Given the description of an element on the screen output the (x, y) to click on. 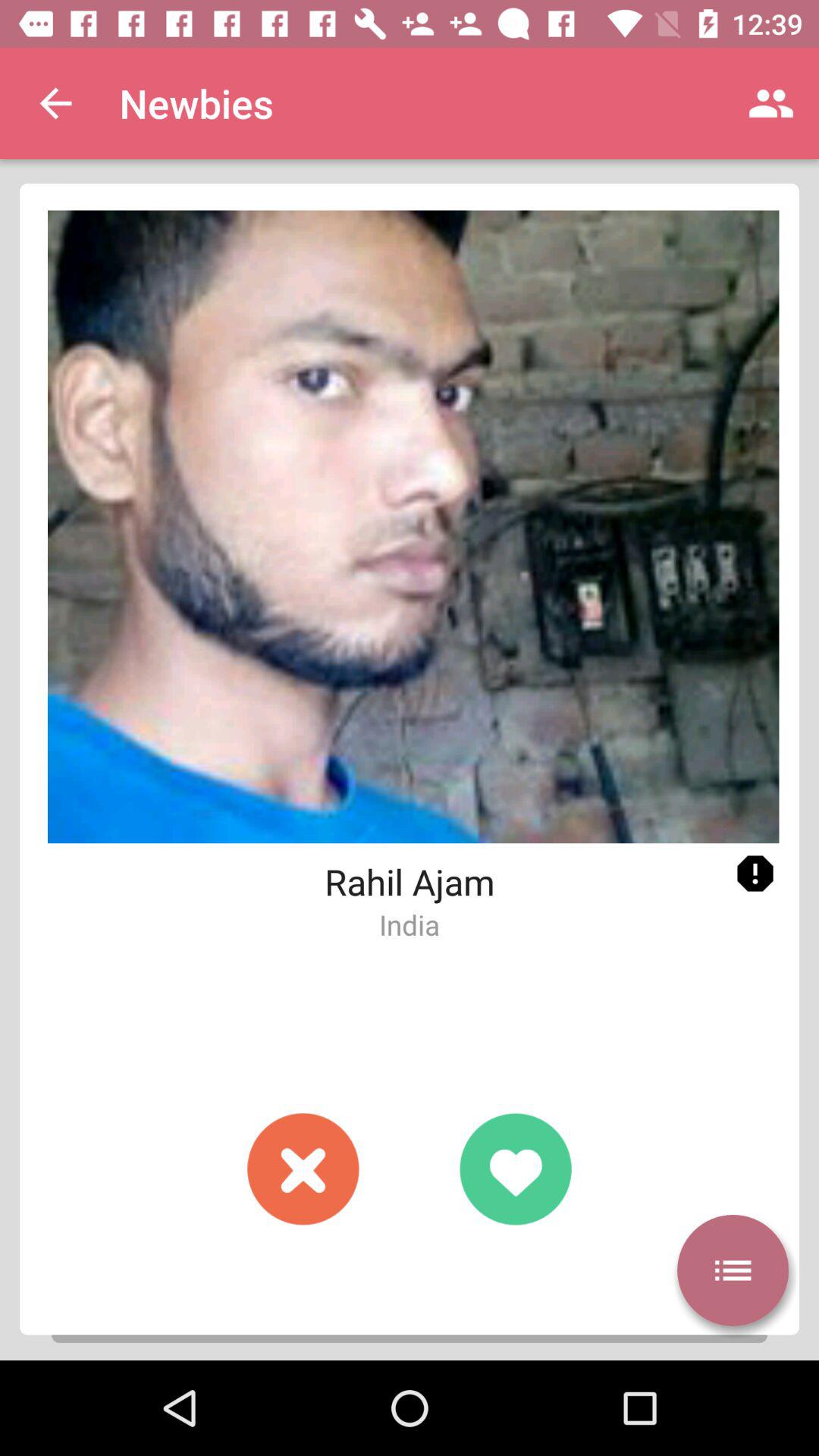
additional info (755, 873)
